Given the description of an element on the screen output the (x, y) to click on. 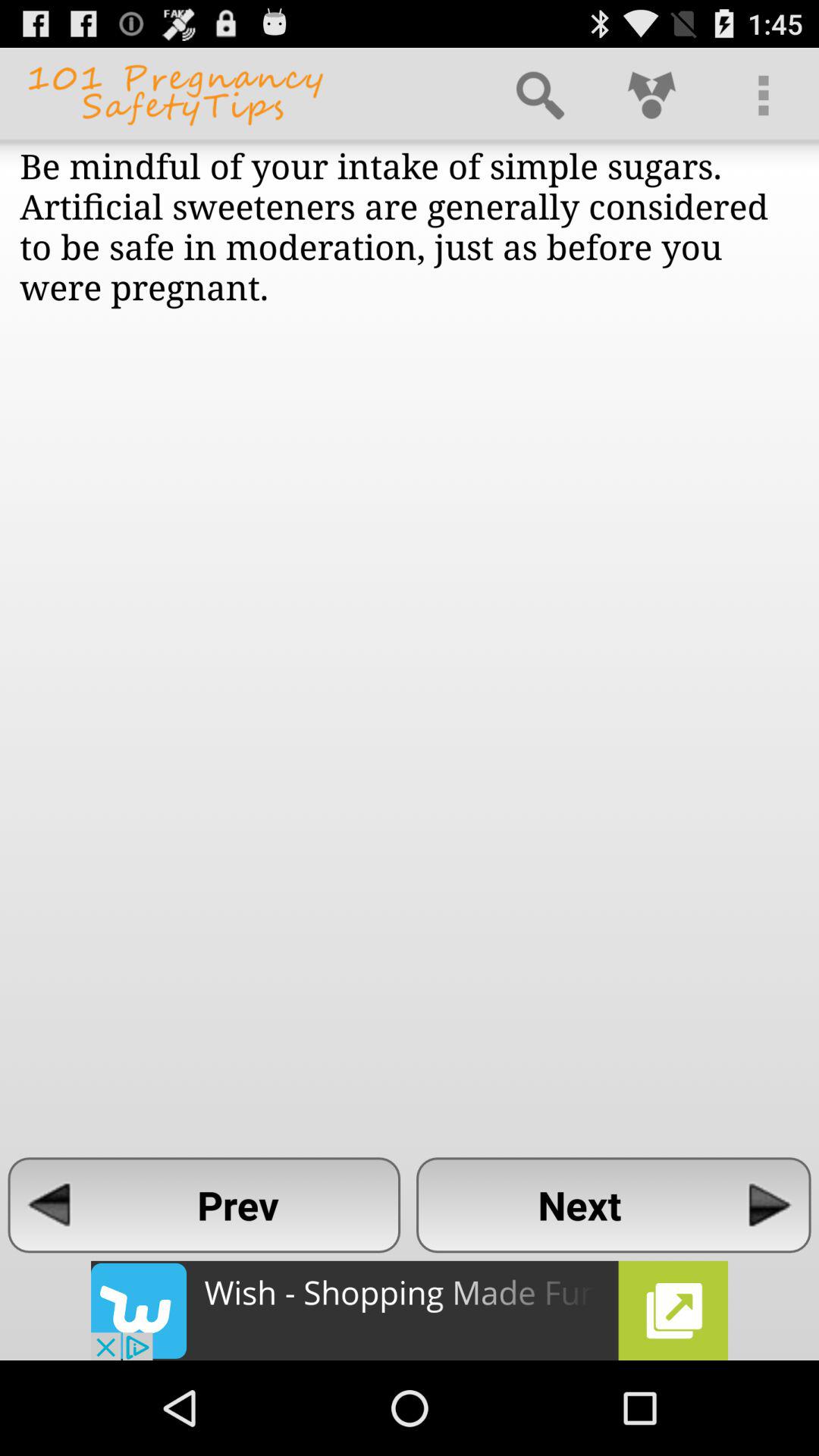
advertisement (409, 1310)
